Given the description of an element on the screen output the (x, y) to click on. 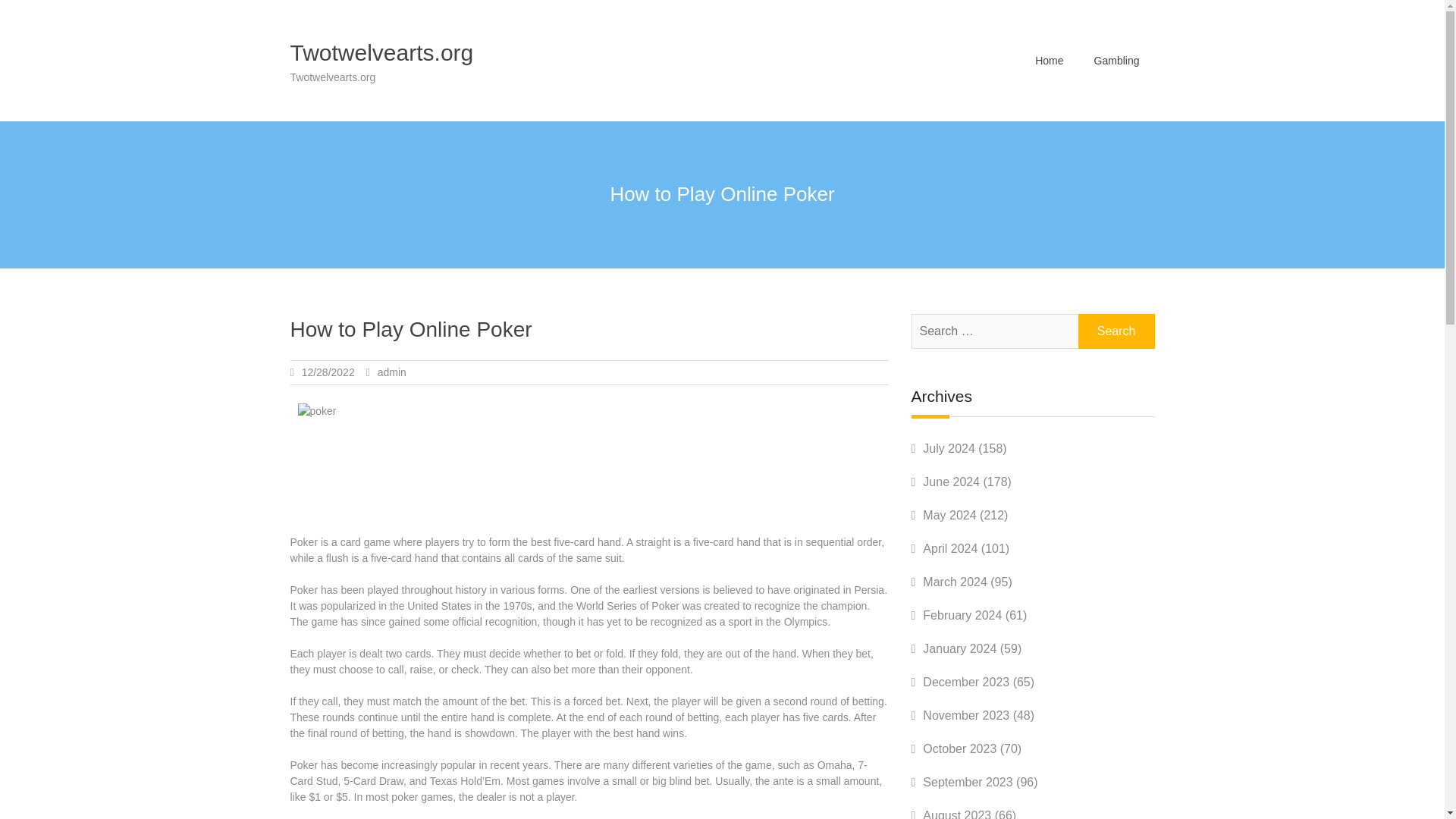
Gambling (1116, 59)
admin (391, 372)
February 2024 (962, 615)
Home (1049, 59)
August 2023 (957, 814)
September 2023 (967, 781)
Search (1116, 330)
Twotwelvearts.org (381, 52)
April 2024 (949, 548)
December 2023 (966, 681)
January 2024 (959, 648)
March 2024 (955, 581)
June 2024 (951, 481)
May 2024 (949, 514)
October 2023 (959, 748)
